Given the description of an element on the screen output the (x, y) to click on. 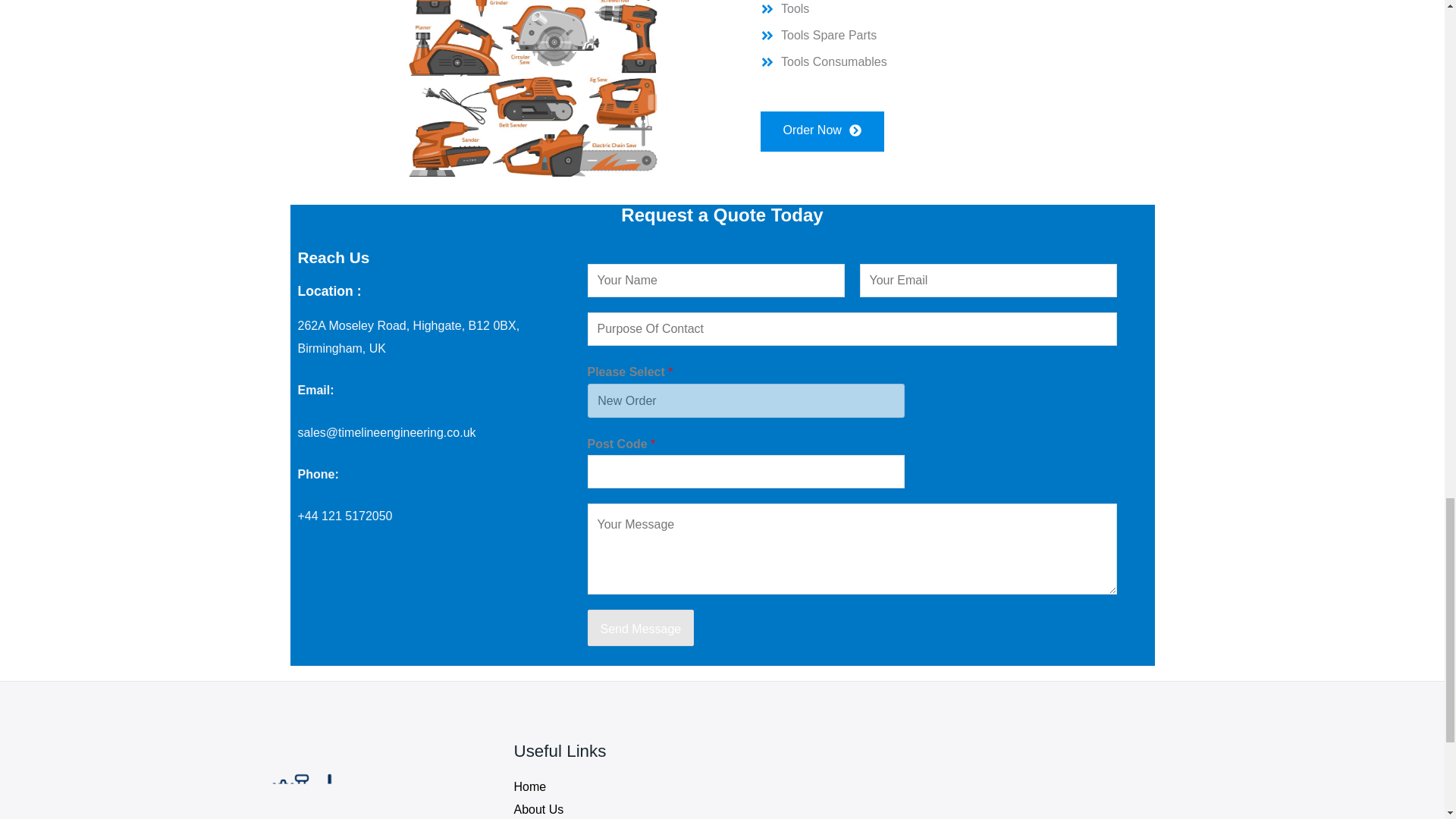
Home (530, 786)
Send Message (640, 627)
Order Now (821, 131)
About Us (538, 809)
